Given the description of an element on the screen output the (x, y) to click on. 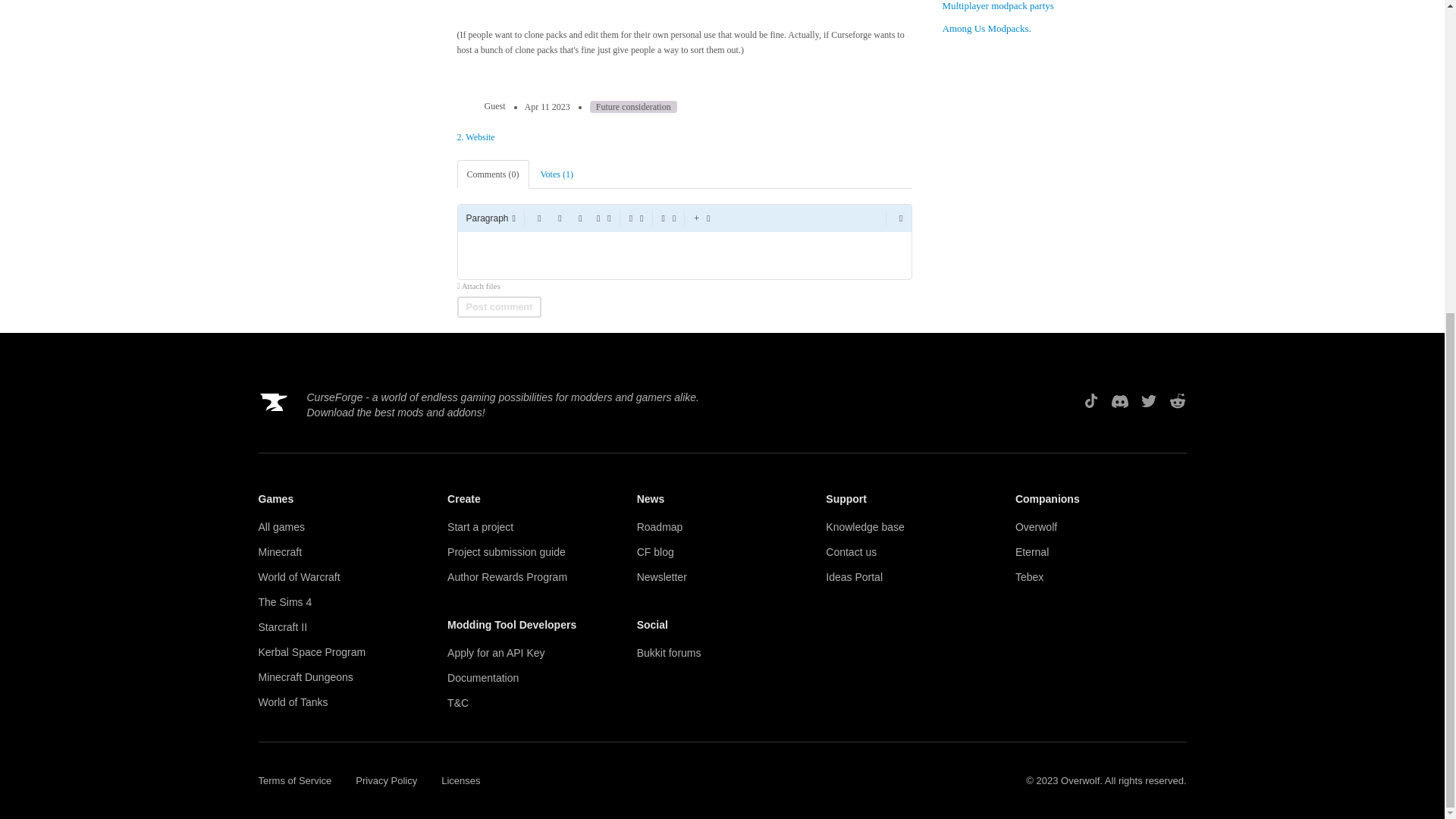
All games (343, 527)
Minecraft Dungeons (343, 677)
2. Website (476, 136)
Among Us Modpacks. (986, 28)
Reddit (1176, 401)
The Sims 4 (343, 602)
Kerbal Space Program (343, 652)
Starcraft II (343, 627)
Post comment (499, 306)
Multiplayer modpack partys (997, 5)
Minecraft (343, 552)
Post comment (499, 306)
Twitter (1147, 401)
Discord (1118, 401)
TikTok (1090, 401)
